Given the description of an element on the screen output the (x, y) to click on. 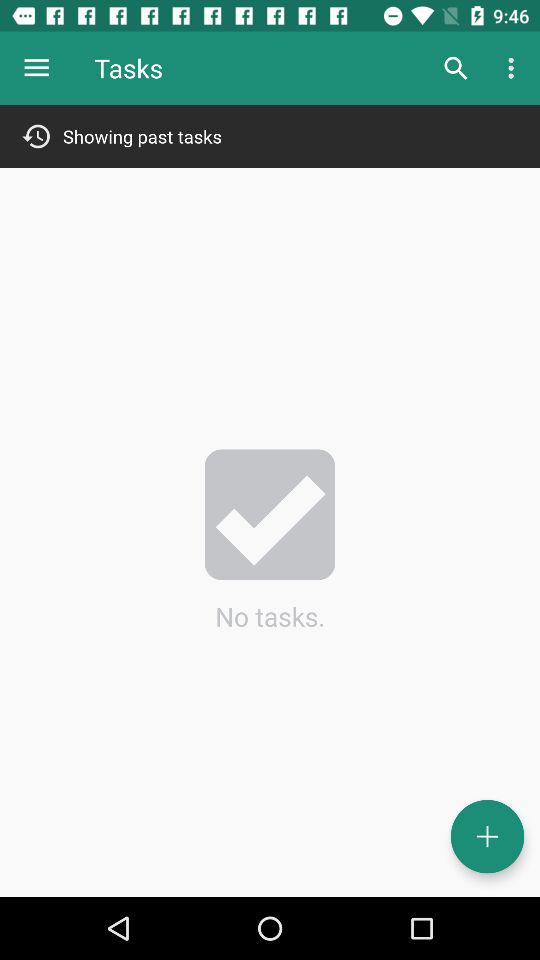
tap the item next to tasks icon (455, 67)
